Given the description of an element on the screen output the (x, y) to click on. 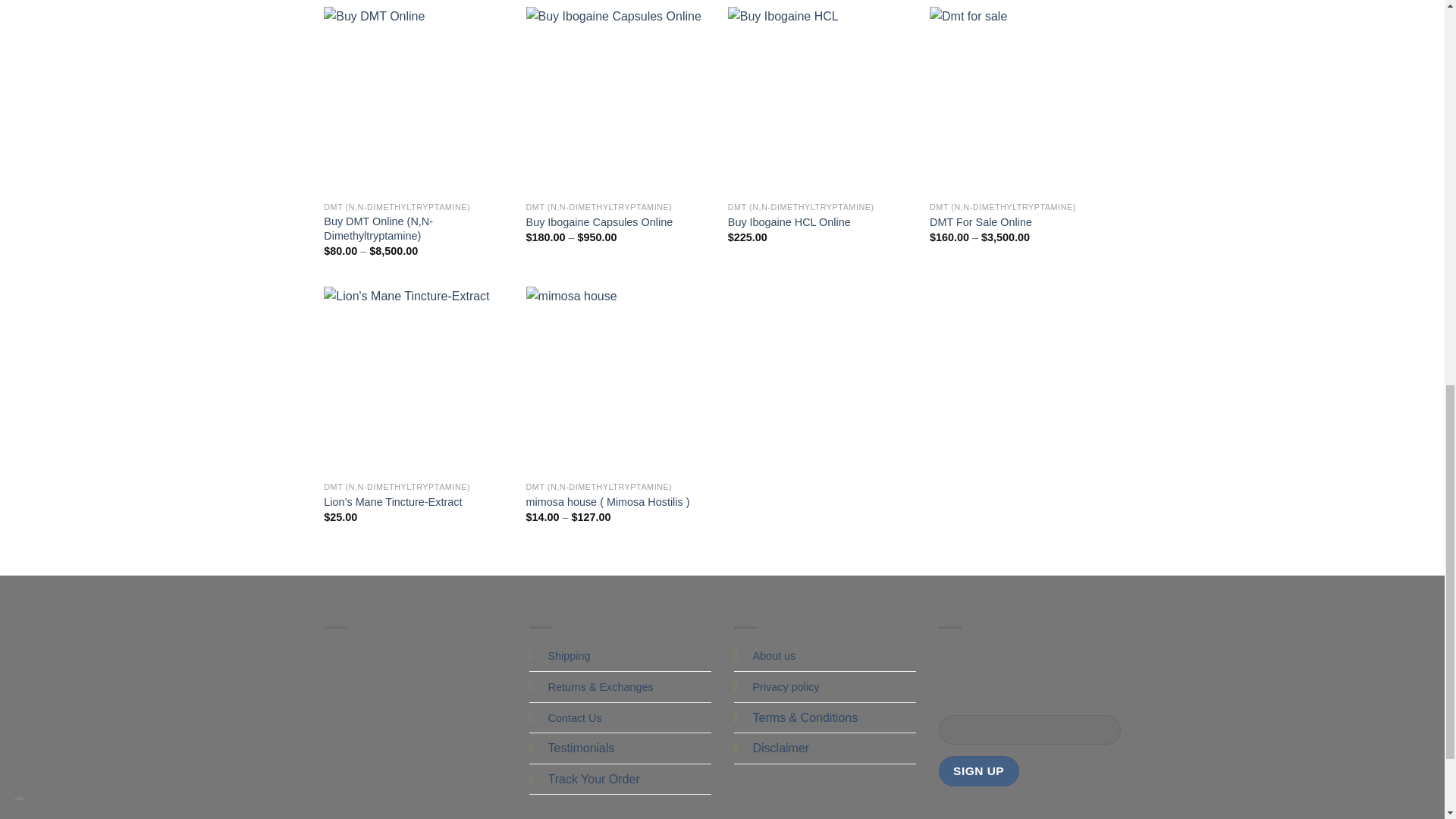
Buy Ibogaine Capsules Online (619, 100)
Sign Up (979, 770)
Buy Ibogaine HCL Online (821, 100)
